Given the description of an element on the screen output the (x, y) to click on. 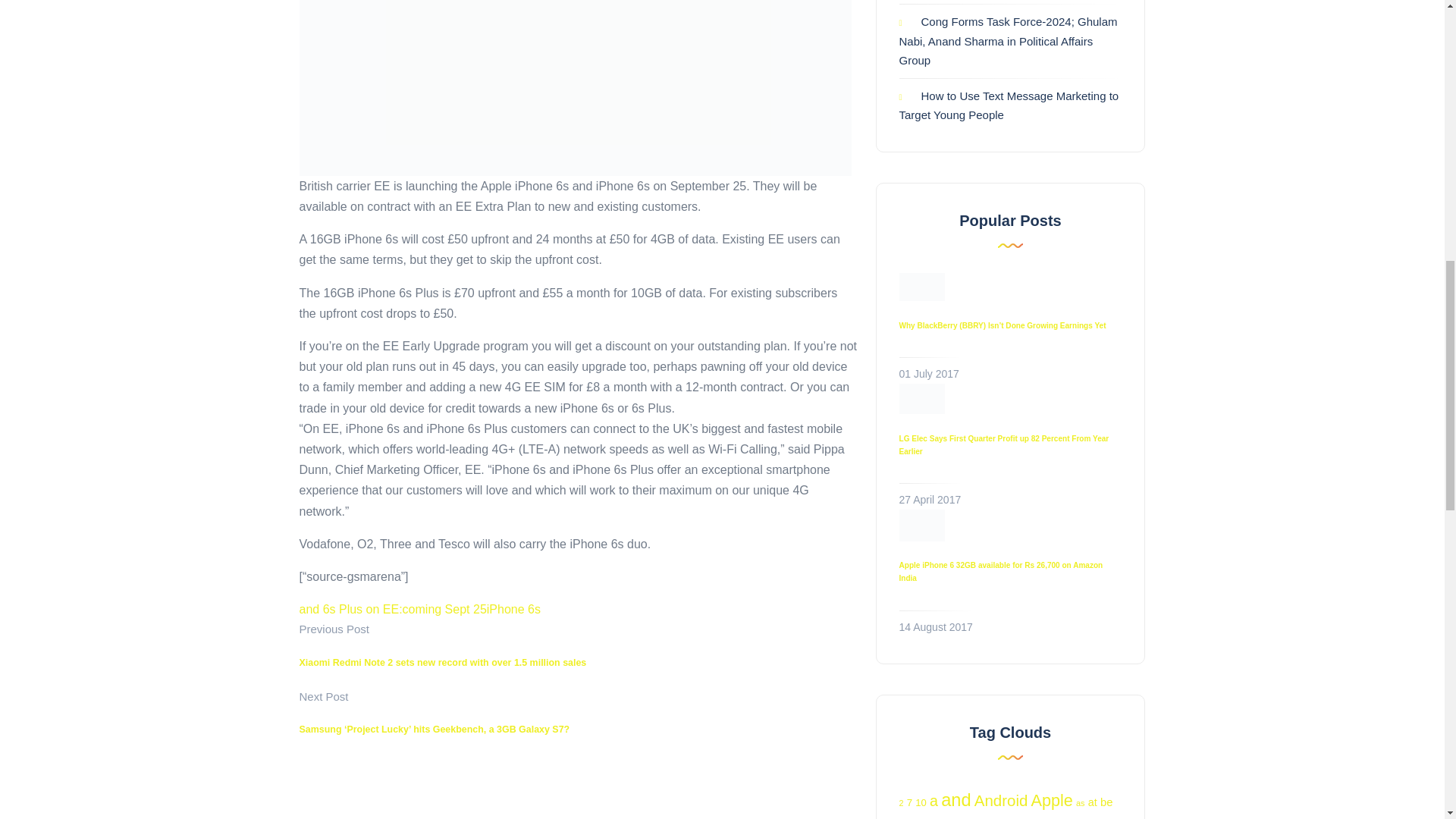
How to Use Text Message Marketing to Target Young People (1009, 105)
Apple iPhone 6 32GB available for Rs 26,700 on Amazon India (1001, 571)
iPhone 6s (513, 608)
coming Sept 25 (444, 608)
and 6s Plus on EE: (349, 608)
